Given the description of an element on the screen output the (x, y) to click on. 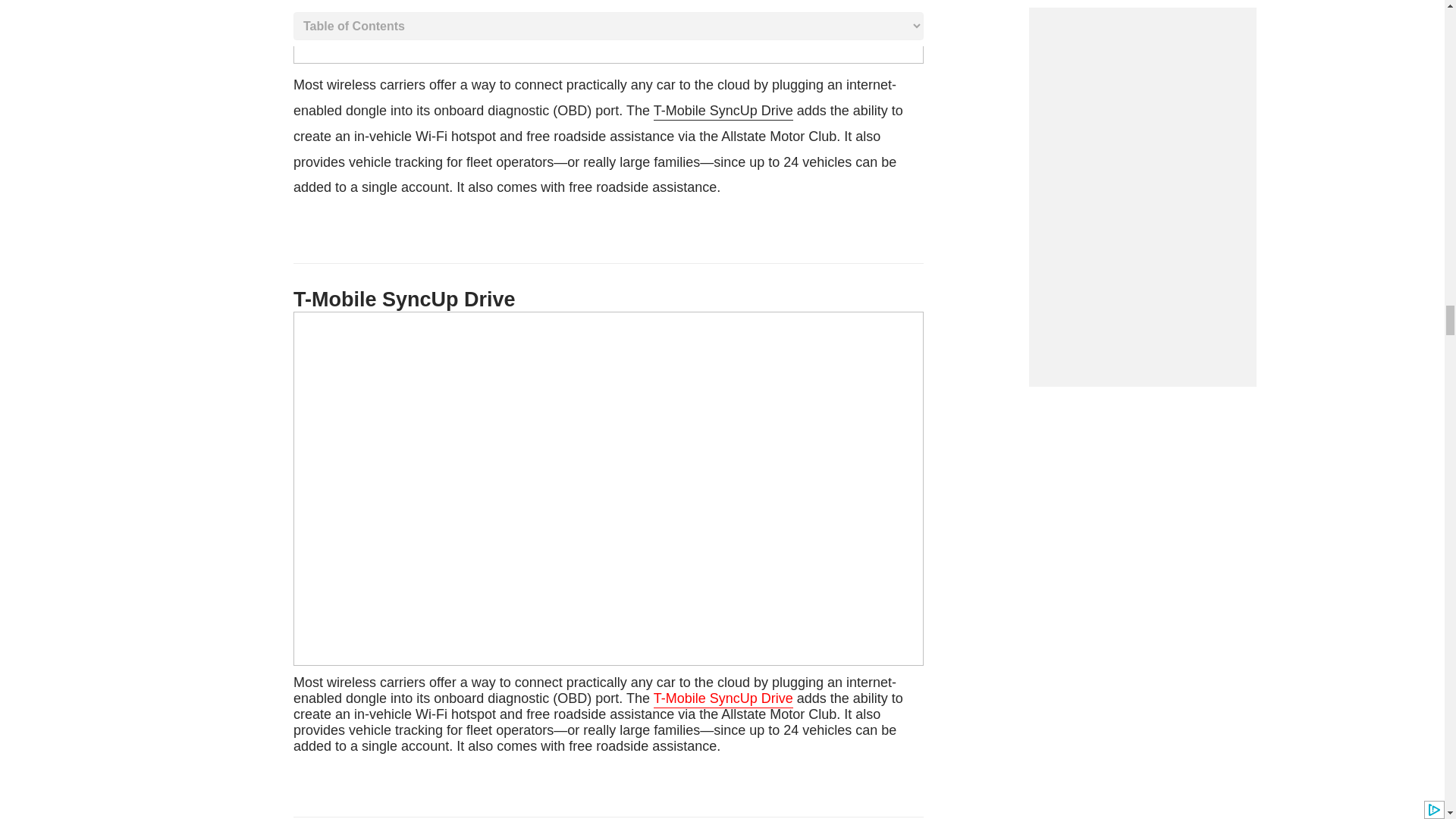
Buy It Now (598, 713)
